Given the description of an element on the screen output the (x, y) to click on. 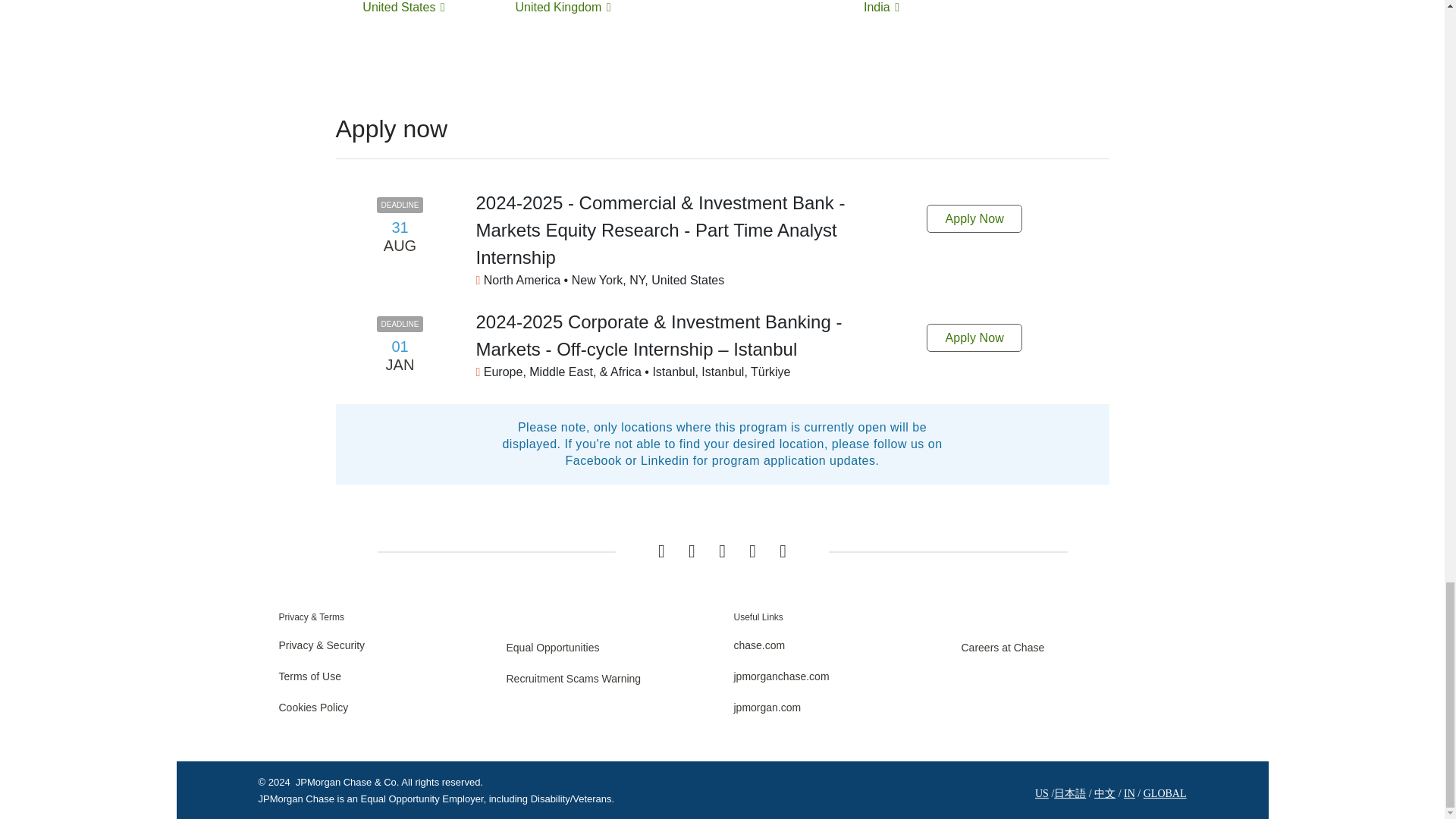
India (881, 8)
United States (403, 8)
Apply Now (974, 218)
Apply Now (974, 337)
United Kingdom (562, 8)
